Given the description of an element on the screen output the (x, y) to click on. 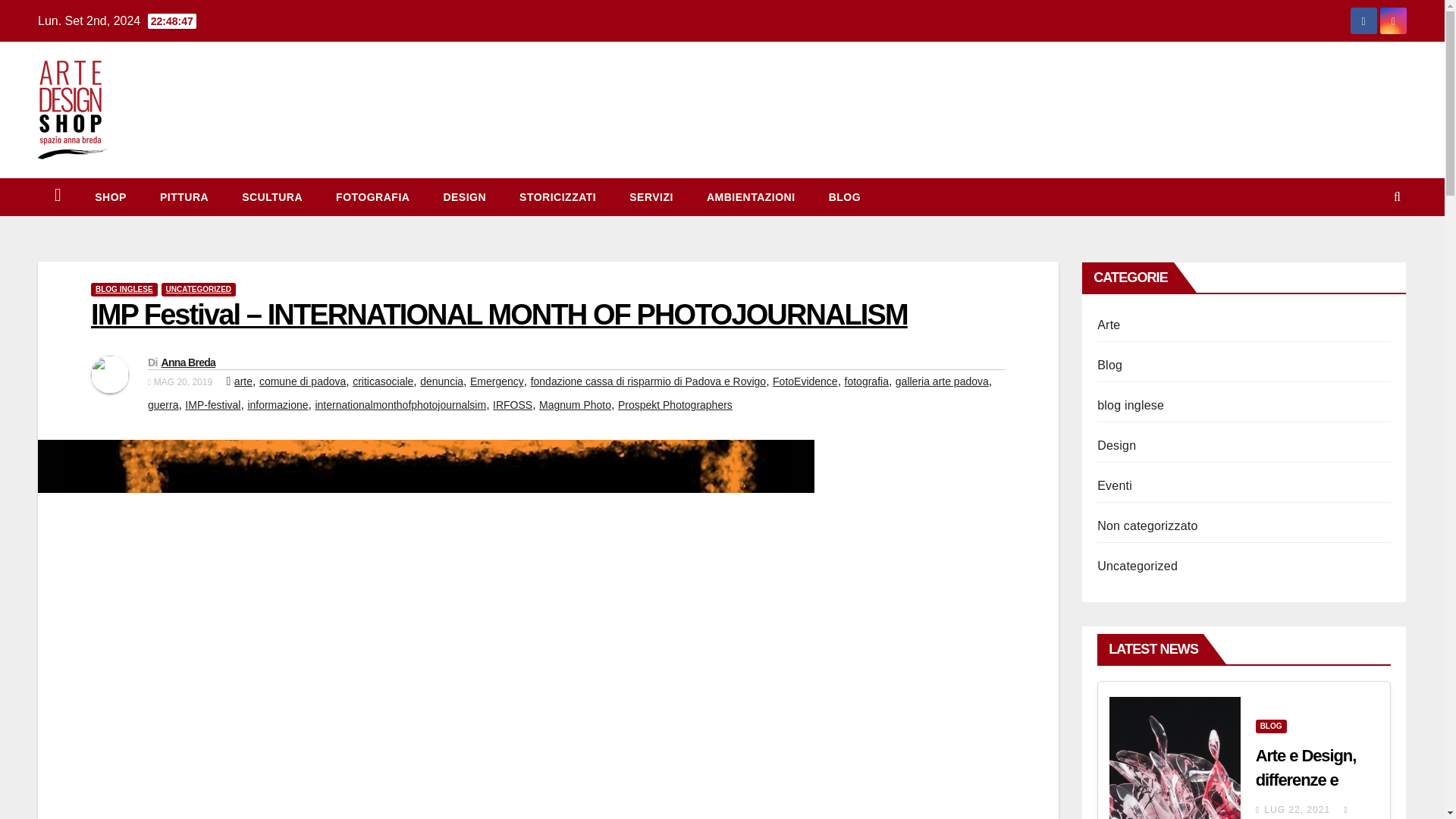
SHOP (110, 197)
PITTURA (183, 197)
SCULTURA (271, 197)
BLOG  (1109, 364)
